Given the description of an element on the screen output the (x, y) to click on. 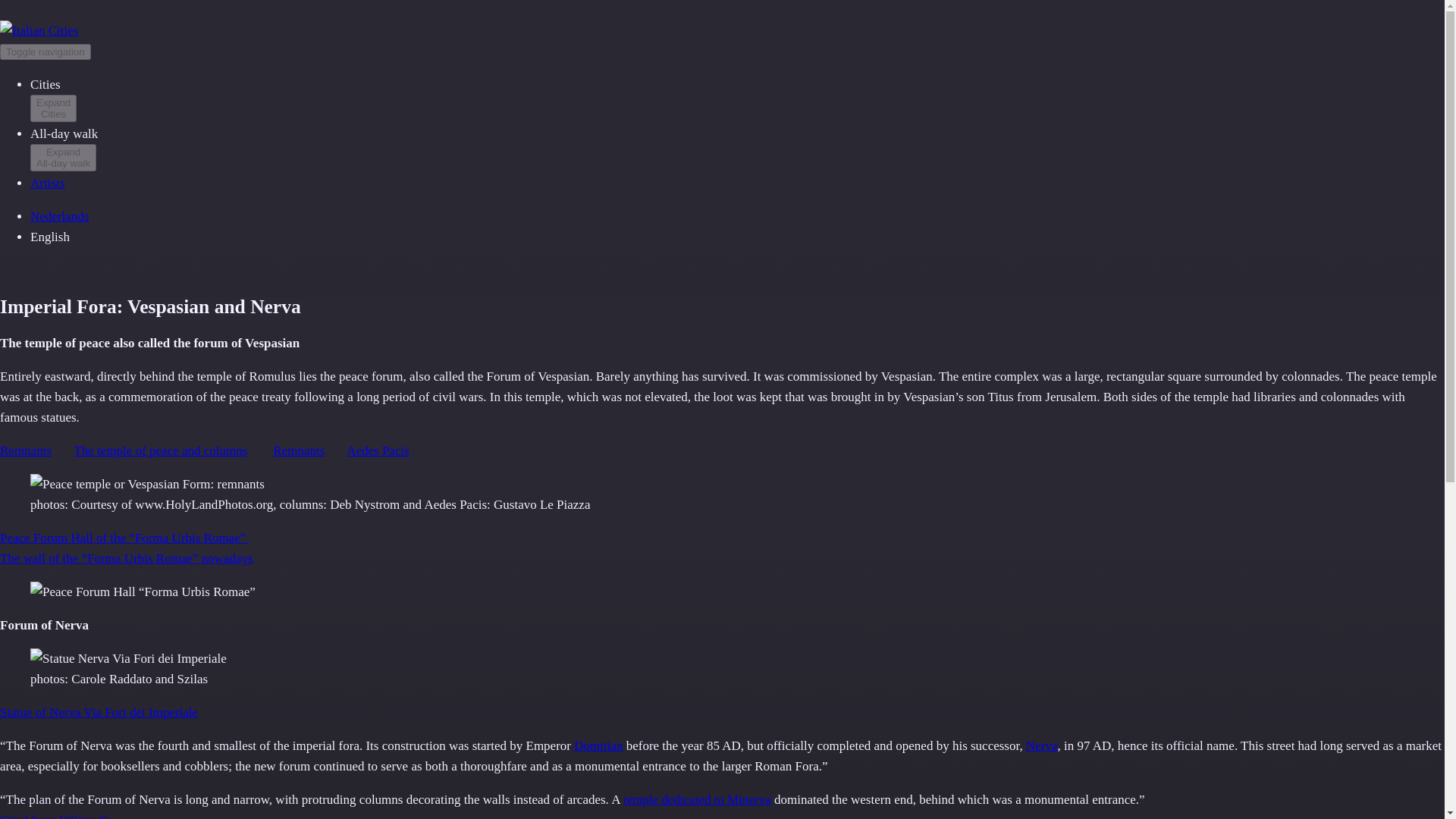
Aedes Pacis (377, 450)
Statue of Nerva Via Fori dei Imperiale (99, 712)
Domitian (53, 108)
Nerva (598, 745)
Artists (1042, 745)
Toggle navigation (47, 183)
Cited from Wikipedia (45, 51)
Remnants (63, 157)
Nederlands (56, 816)
temple dedicated to Minerva (25, 450)
Remnants (59, 216)
The temple of peace and columns (697, 799)
